Given the description of an element on the screen output the (x, y) to click on. 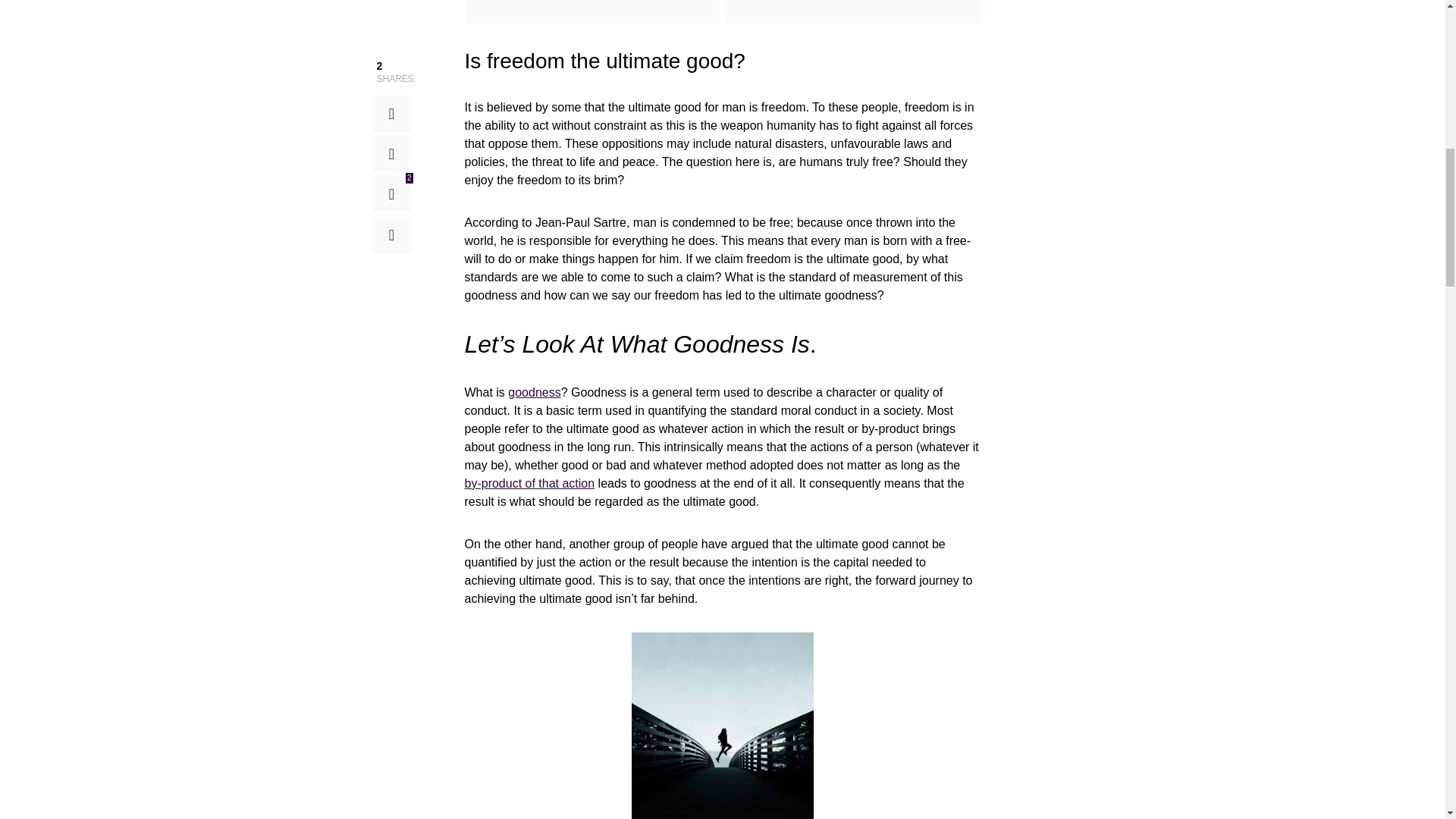
goodness (534, 391)
2 (390, 129)
by-product of that action (529, 482)
